Given the description of an element on the screen output the (x, y) to click on. 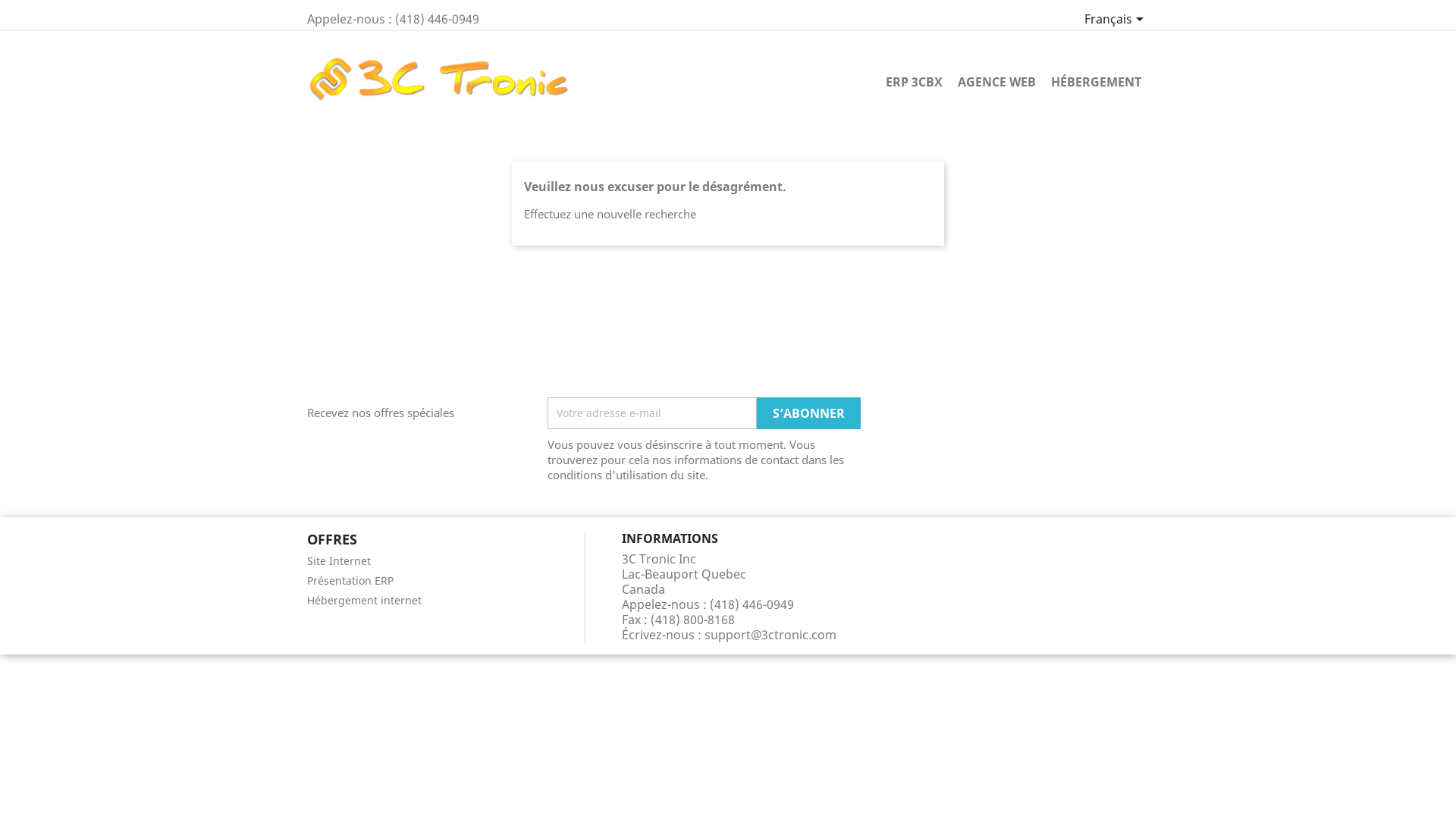
ERP 3CBX Element type: text (914, 83)
Site Internet Element type: text (338, 560)
AGENCE WEB Element type: text (996, 83)
